Given the description of an element on the screen output the (x, y) to click on. 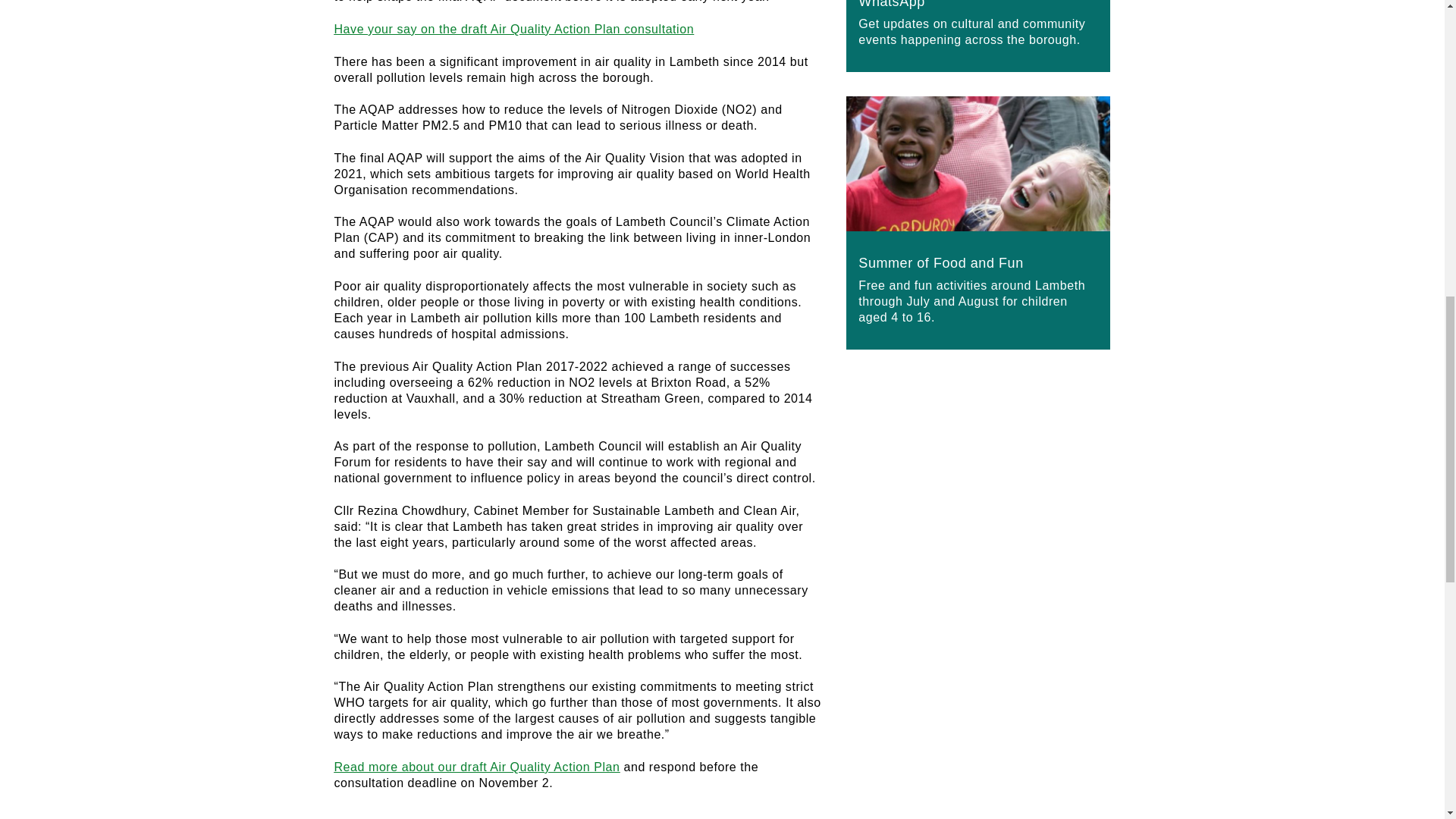
Read more about our draft Air Quality Action Plan (476, 766)
